Given the description of an element on the screen output the (x, y) to click on. 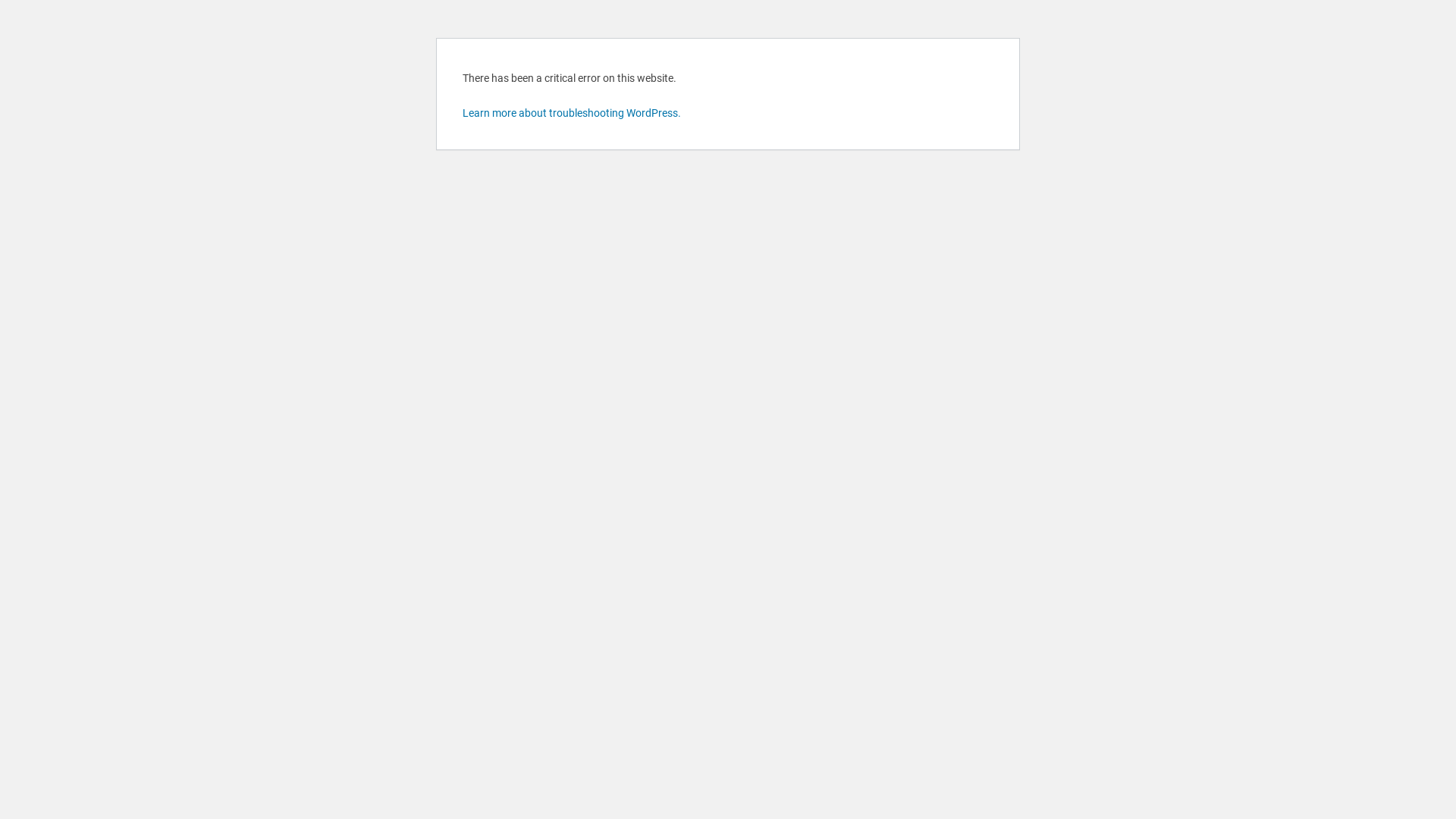
Learn more about troubleshooting WordPress. Element type: text (571, 112)
